Given the description of an element on the screen output the (x, y) to click on. 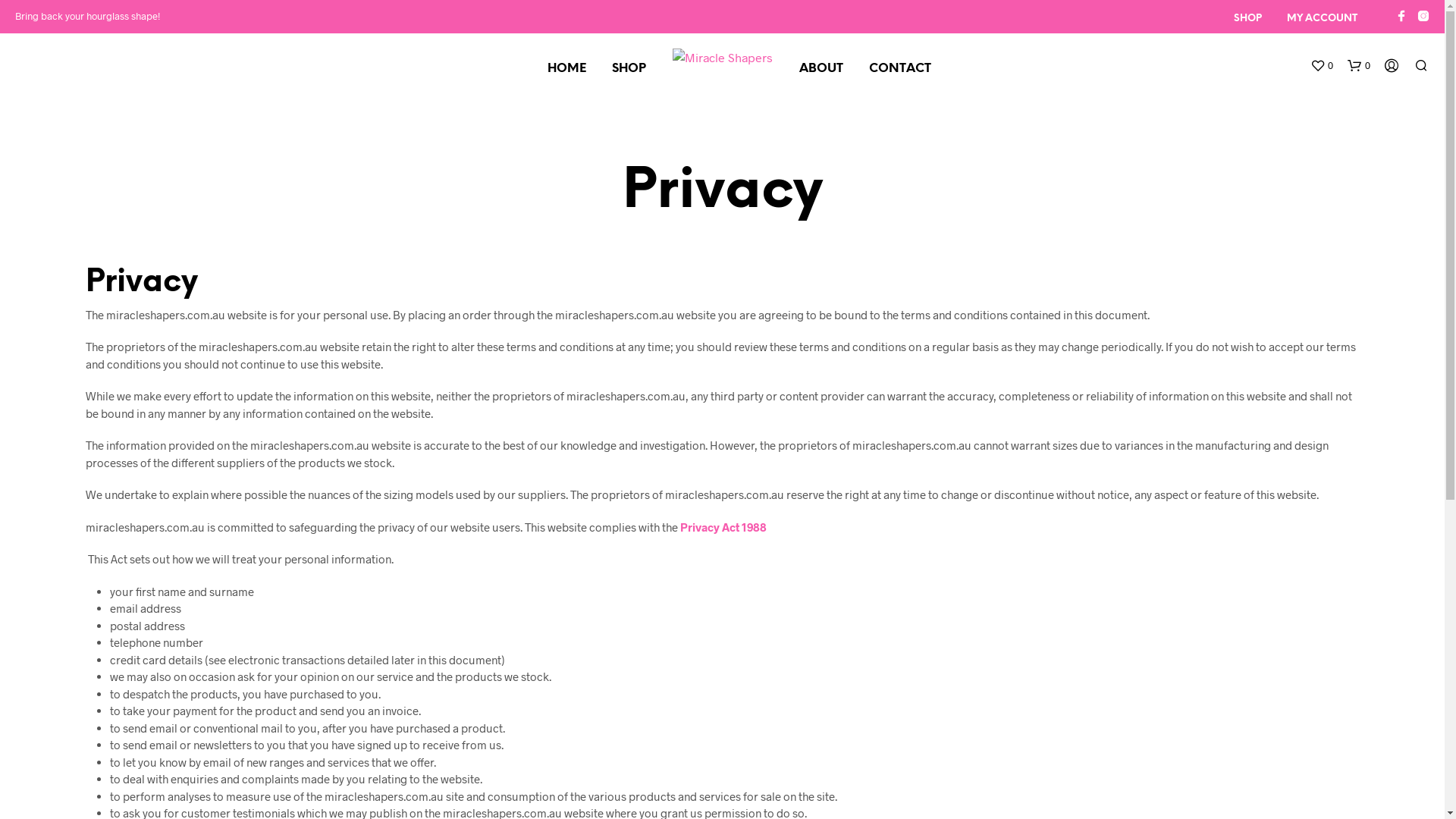
0 Element type: text (1321, 65)
CONTACT Element type: text (898, 68)
ABOUT Element type: text (820, 68)
Privacy Act 1988 Element type: text (722, 526)
MY ACCOUNT Element type: text (1321, 18)
HOME Element type: text (565, 68)
SHOP Element type: text (628, 68)
SHOP Element type: text (1247, 18)
0 Element type: text (1358, 65)
